Given the description of an element on the screen output the (x, y) to click on. 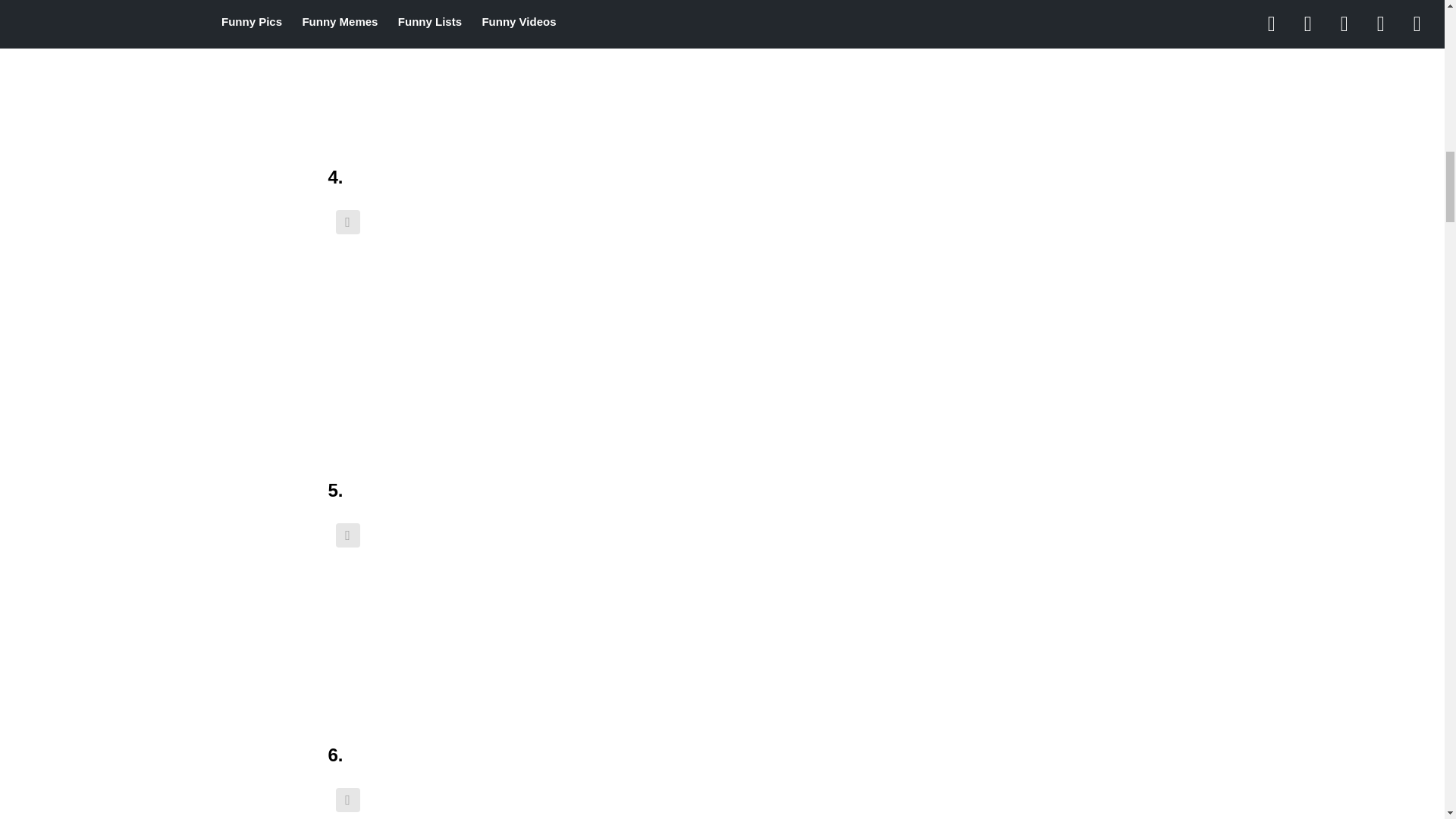
Share (346, 221)
